Given the description of an element on the screen output the (x, y) to click on. 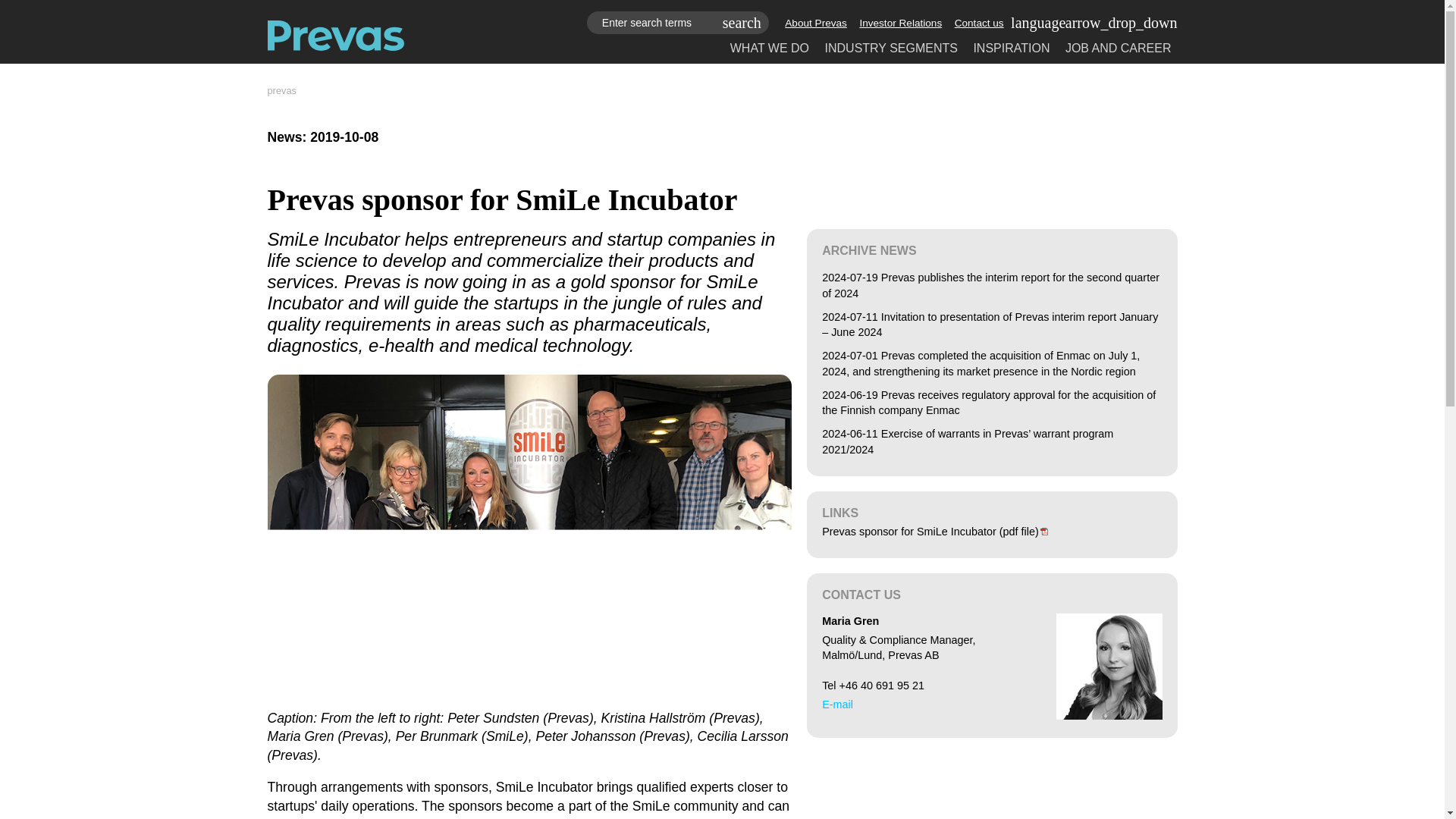
prevas (280, 90)
INDUSTRY SEGMENTS (891, 48)
INSPIRATION (1010, 48)
About Prevas (815, 22)
Search (741, 22)
E-mail (837, 704)
WHAT WE DO (769, 48)
Contact us (979, 22)
